Given the description of an element on the screen output the (x, y) to click on. 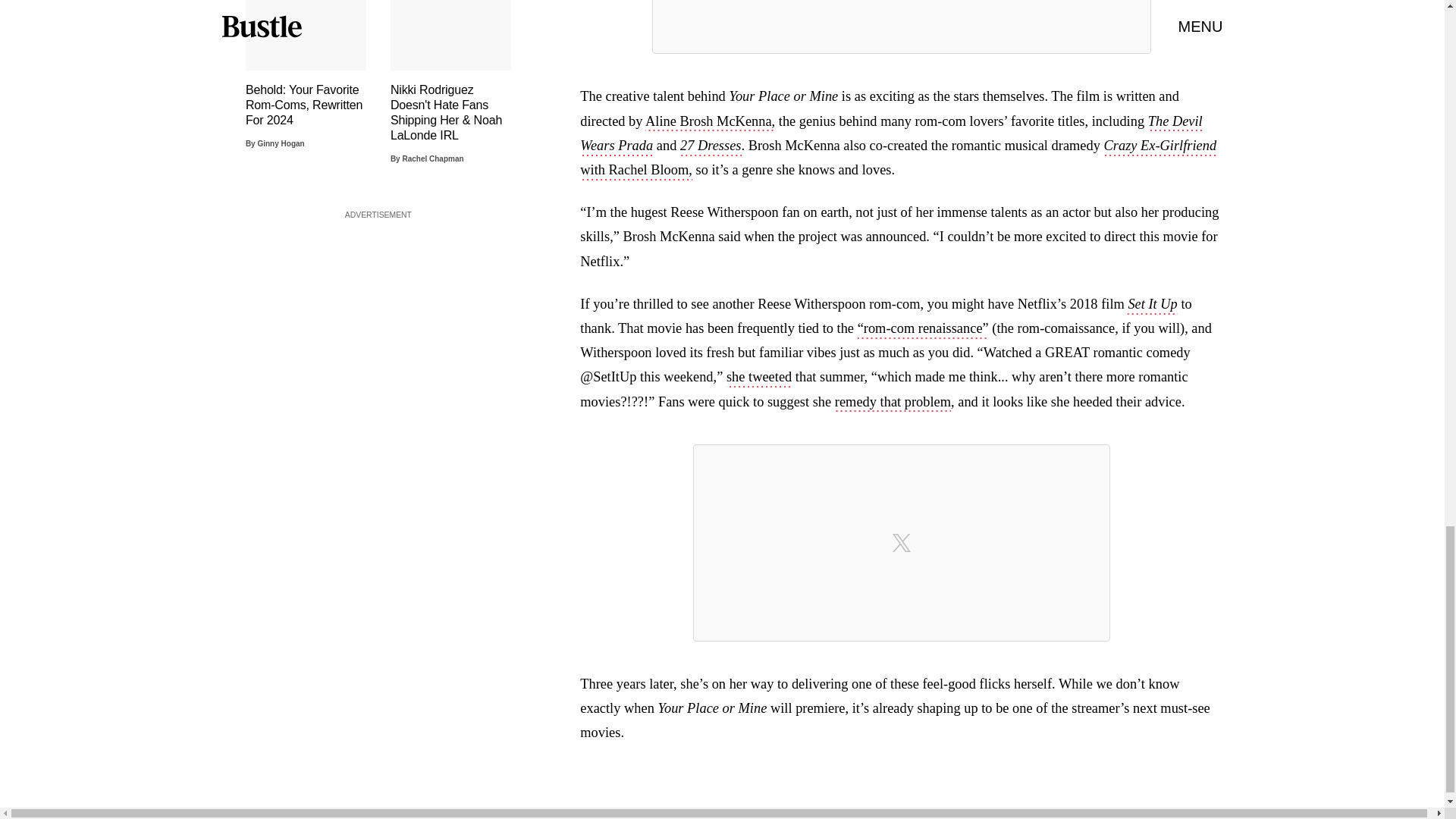
Aline Brosh McKenna, (709, 122)
Crazy Ex-Girlfriend with Rachel Bloom, (897, 159)
Set It Up (1151, 305)
27 Dresses (710, 147)
remedy that problem (892, 402)
she tweeted (759, 378)
The Devil Wears Prada (890, 134)
